Given the description of an element on the screen output the (x, y) to click on. 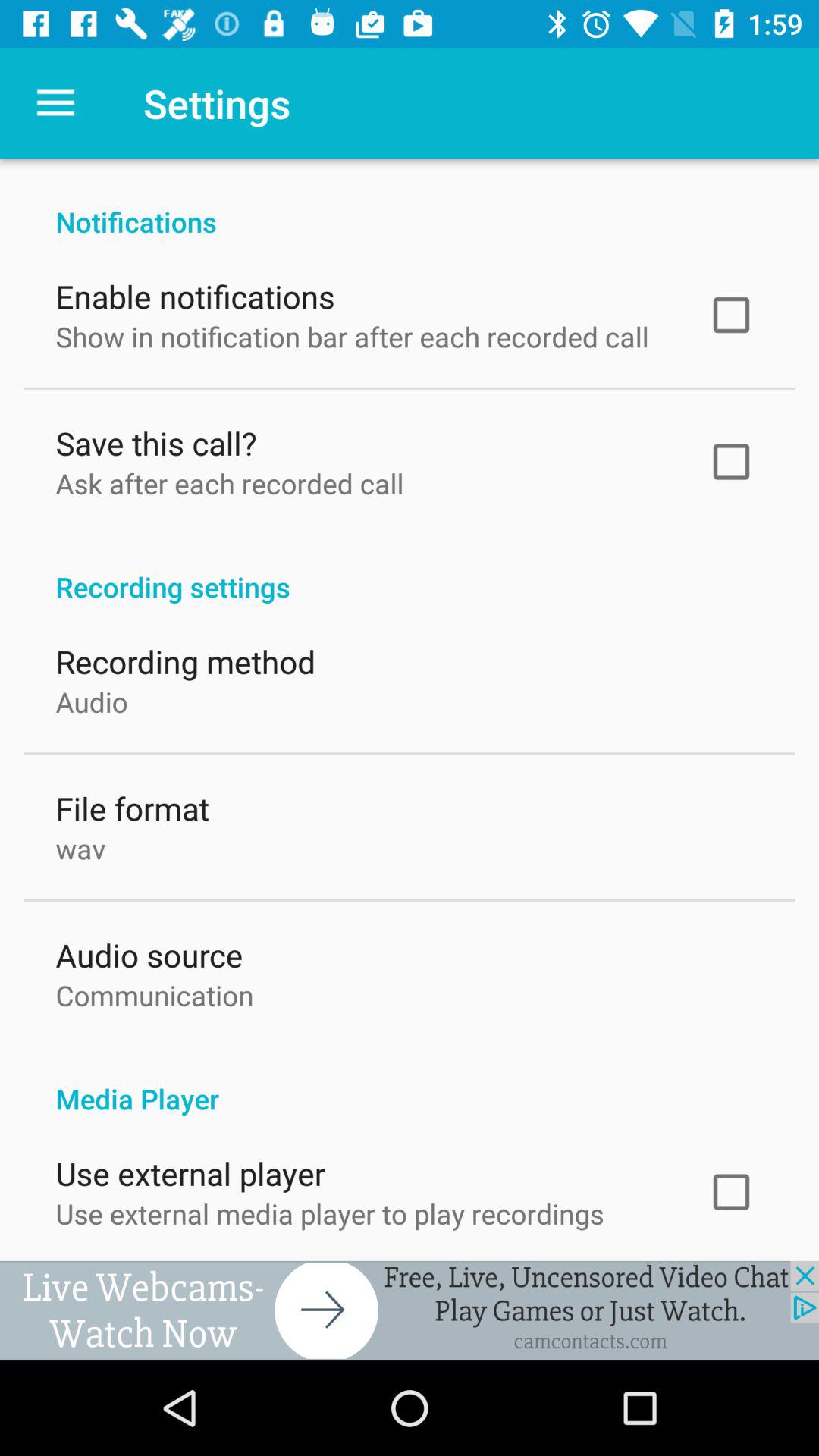
choose the recording settings item (409, 567)
